Given the description of an element on the screen output the (x, y) to click on. 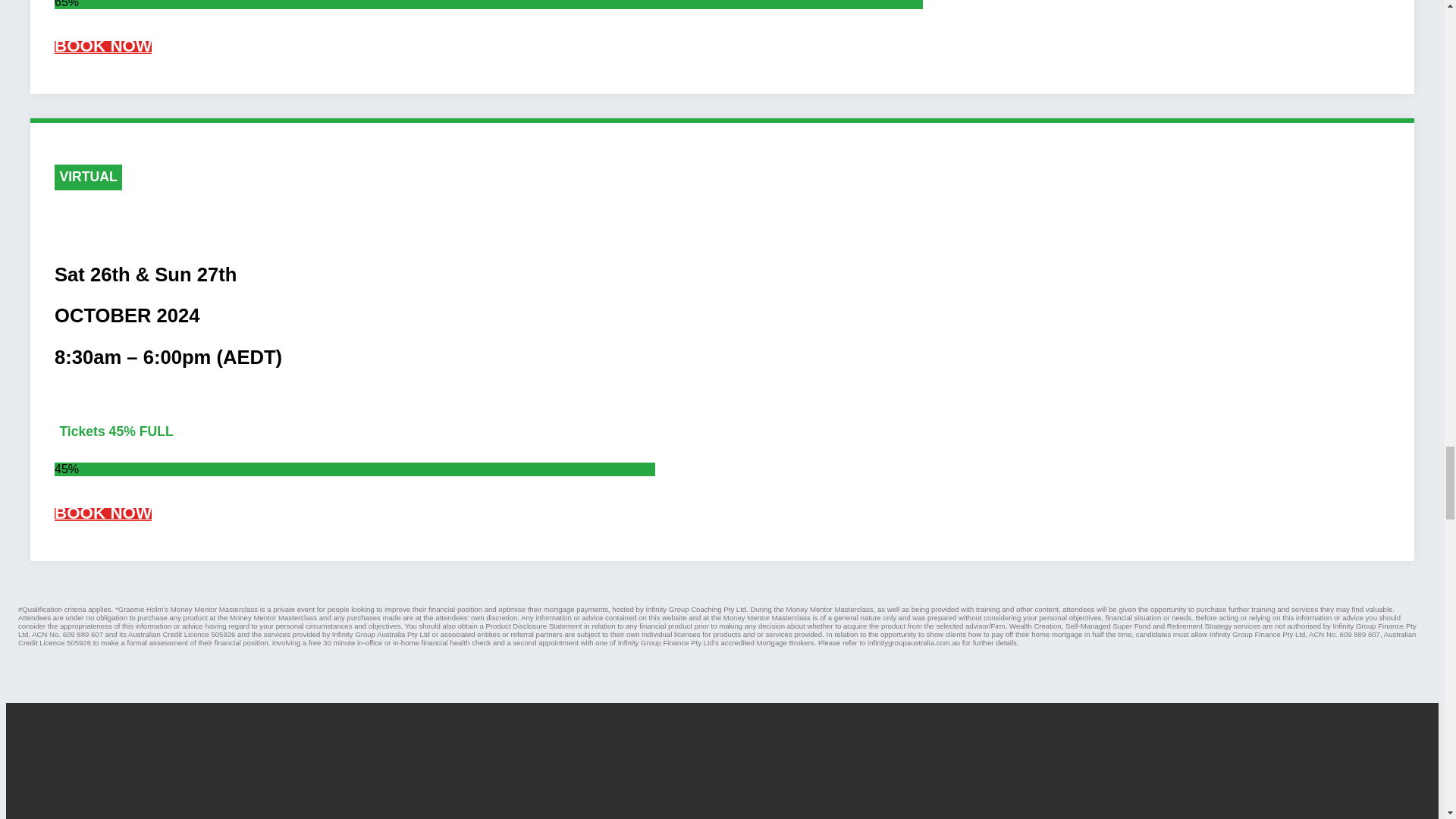
BOOK NOW (103, 513)
BOOK NOW (103, 47)
